Given the description of an element on the screen output the (x, y) to click on. 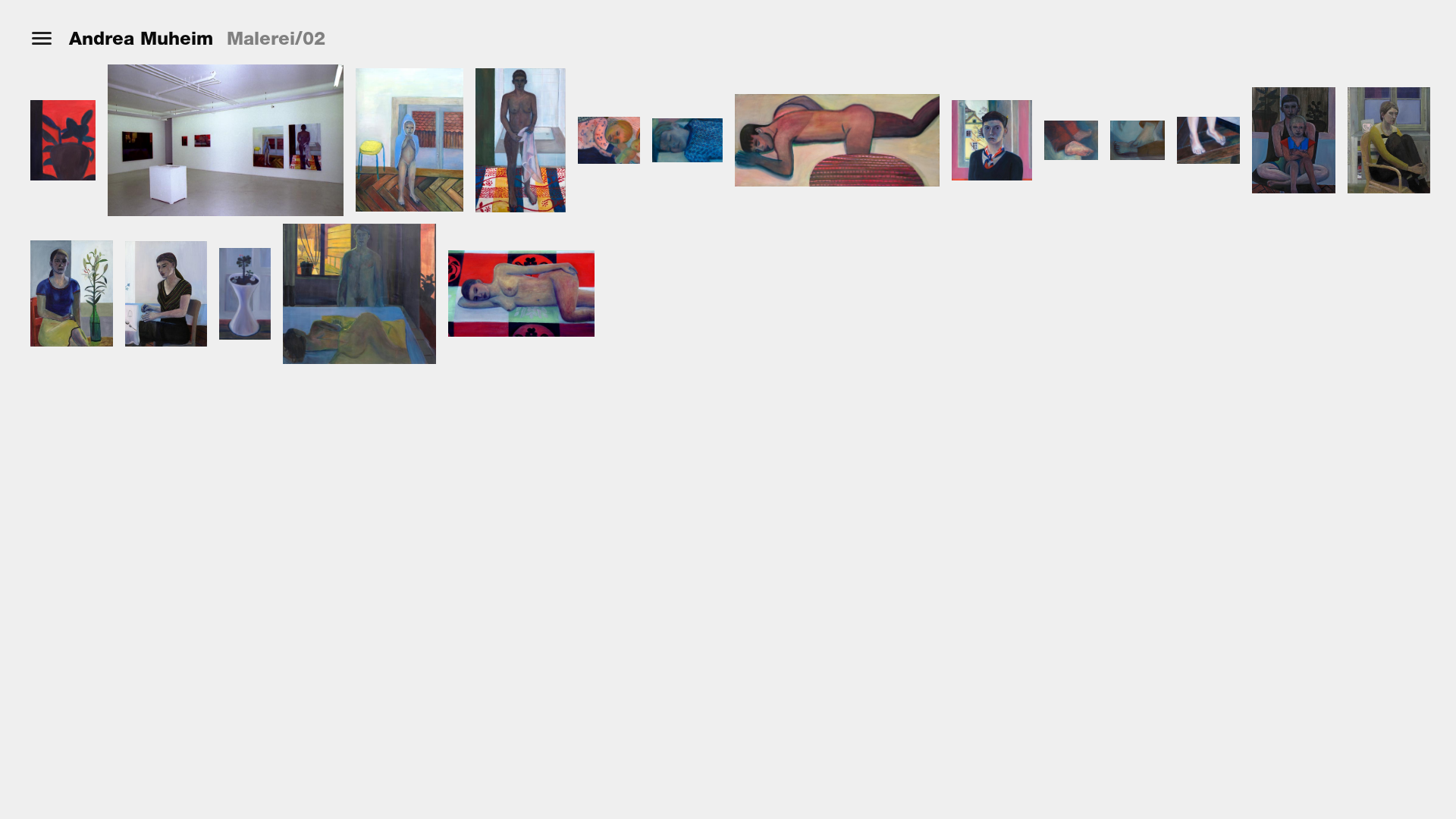
Andrea Muheim Element type: text (141, 39)
